Given the description of an element on the screen output the (x, y) to click on. 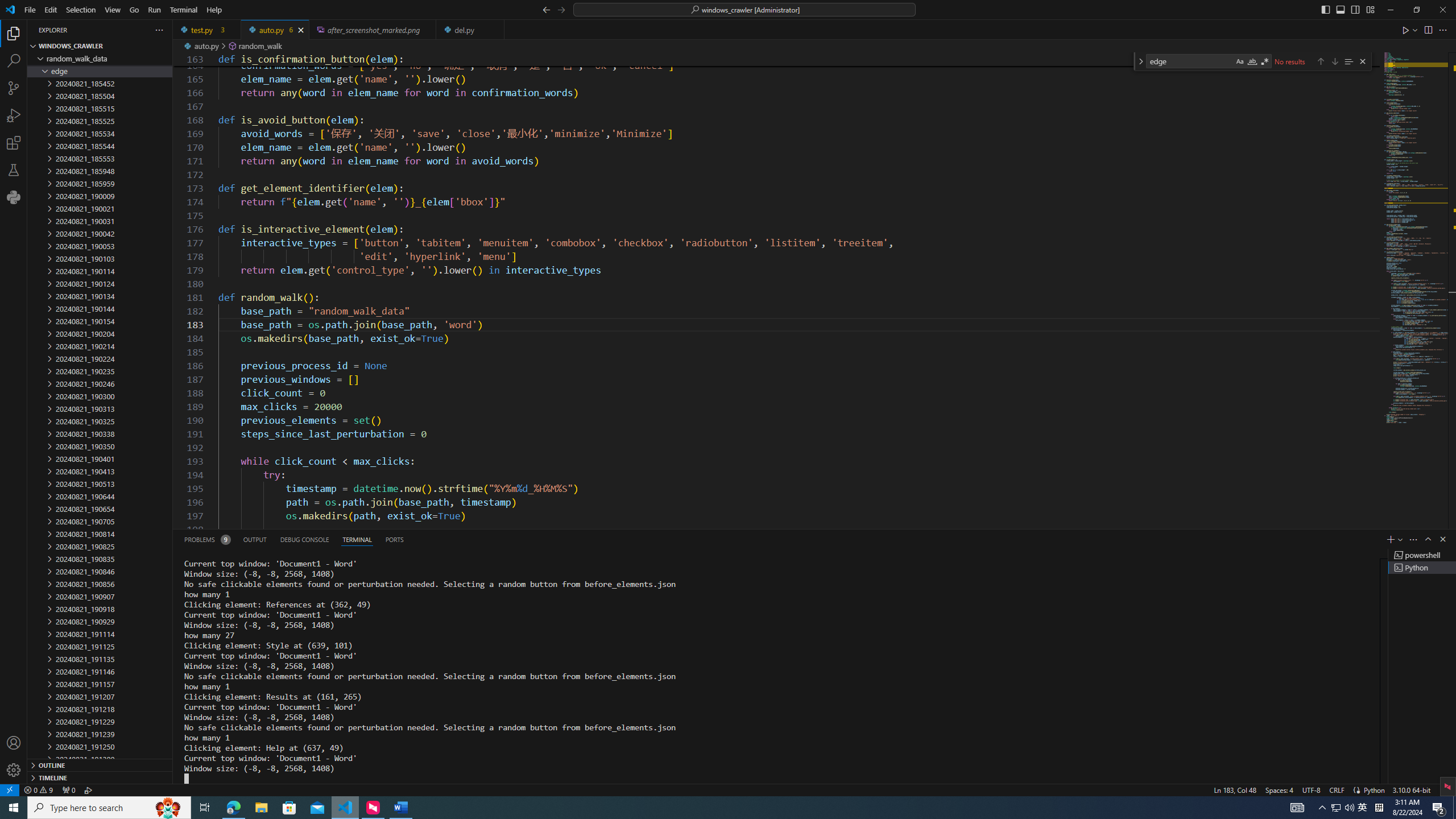
Terminal (183, 9)
Terminal 5 Python (1422, 567)
Python (1373, 789)
Debug:  (88, 789)
Launch Profile... (1400, 539)
Python (13, 197)
Close (Escape) (1362, 60)
CRLF (1336, 789)
Ports actions (917, 539)
File (30, 9)
Problems (Ctrl+Shift+M) - Total 9 Problems (206, 539)
UTF-8 (1310, 789)
